Given the description of an element on the screen output the (x, y) to click on. 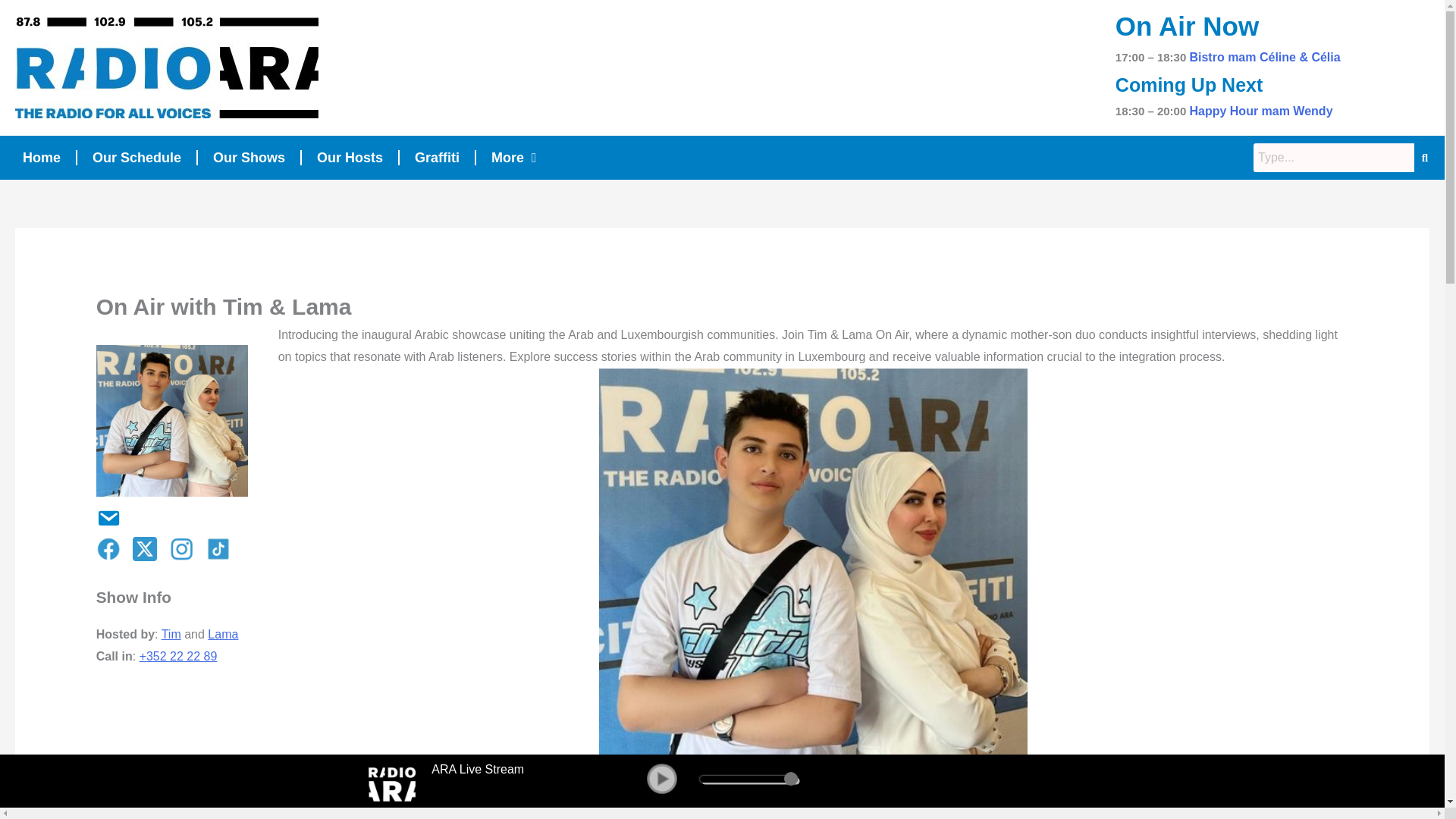
Our Schedule (136, 157)
Graffiti (436, 157)
Home (41, 157)
More (513, 157)
Search (1333, 157)
Our Shows (248, 157)
100 (748, 778)
Email Show Host (104, 515)
Our Hosts (349, 157)
Happy Hour mam Wendy (1260, 110)
